Given the description of an element on the screen output the (x, y) to click on. 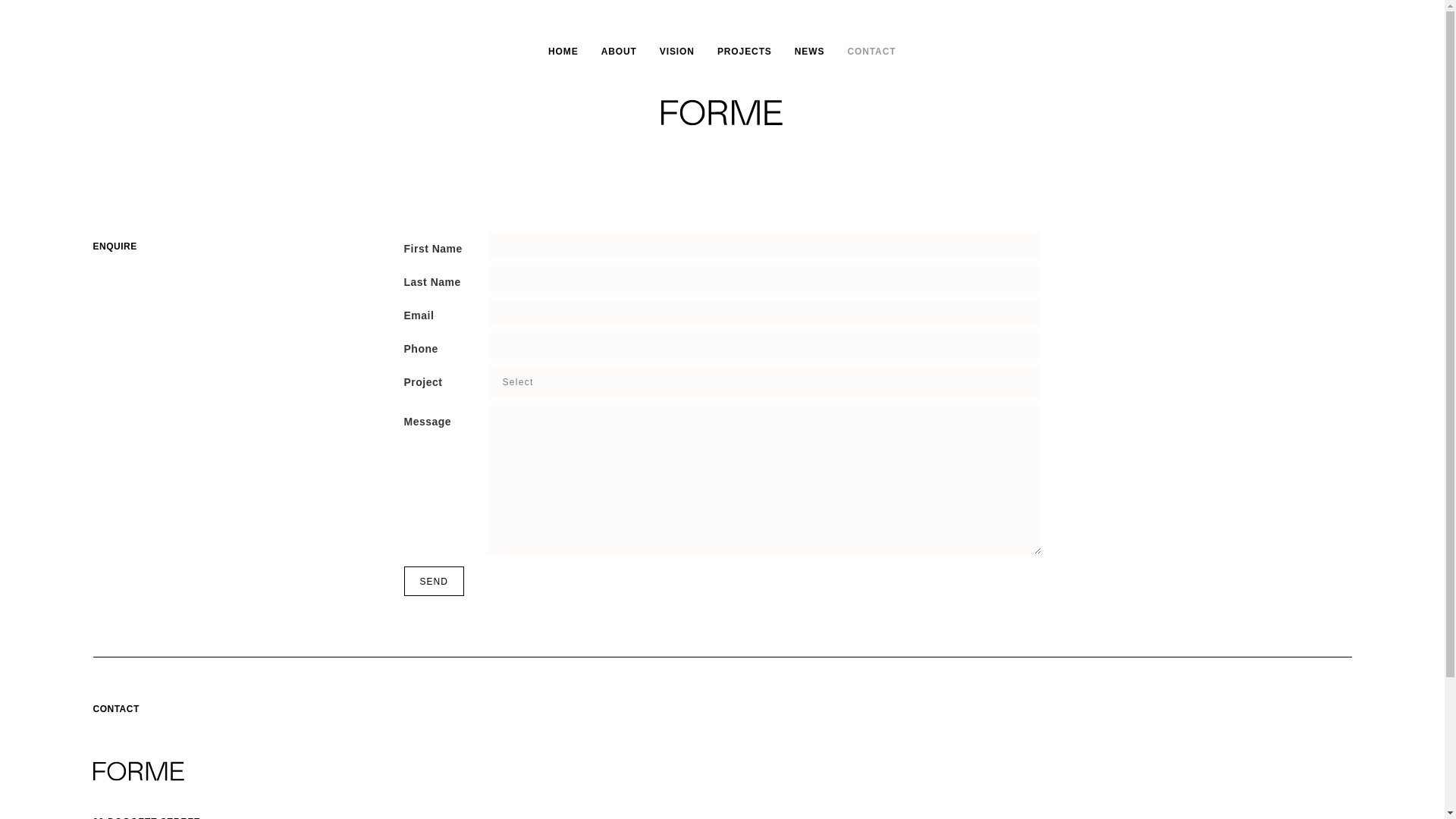
SEND Element type: text (433, 581)
NEWS Element type: text (809, 51)
PROJECTS Element type: text (744, 51)
HOME Element type: text (562, 51)
ABOUT Element type: text (618, 51)
CONTACT Element type: text (870, 51)
VISION Element type: text (677, 51)
